Given the description of an element on the screen output the (x, y) to click on. 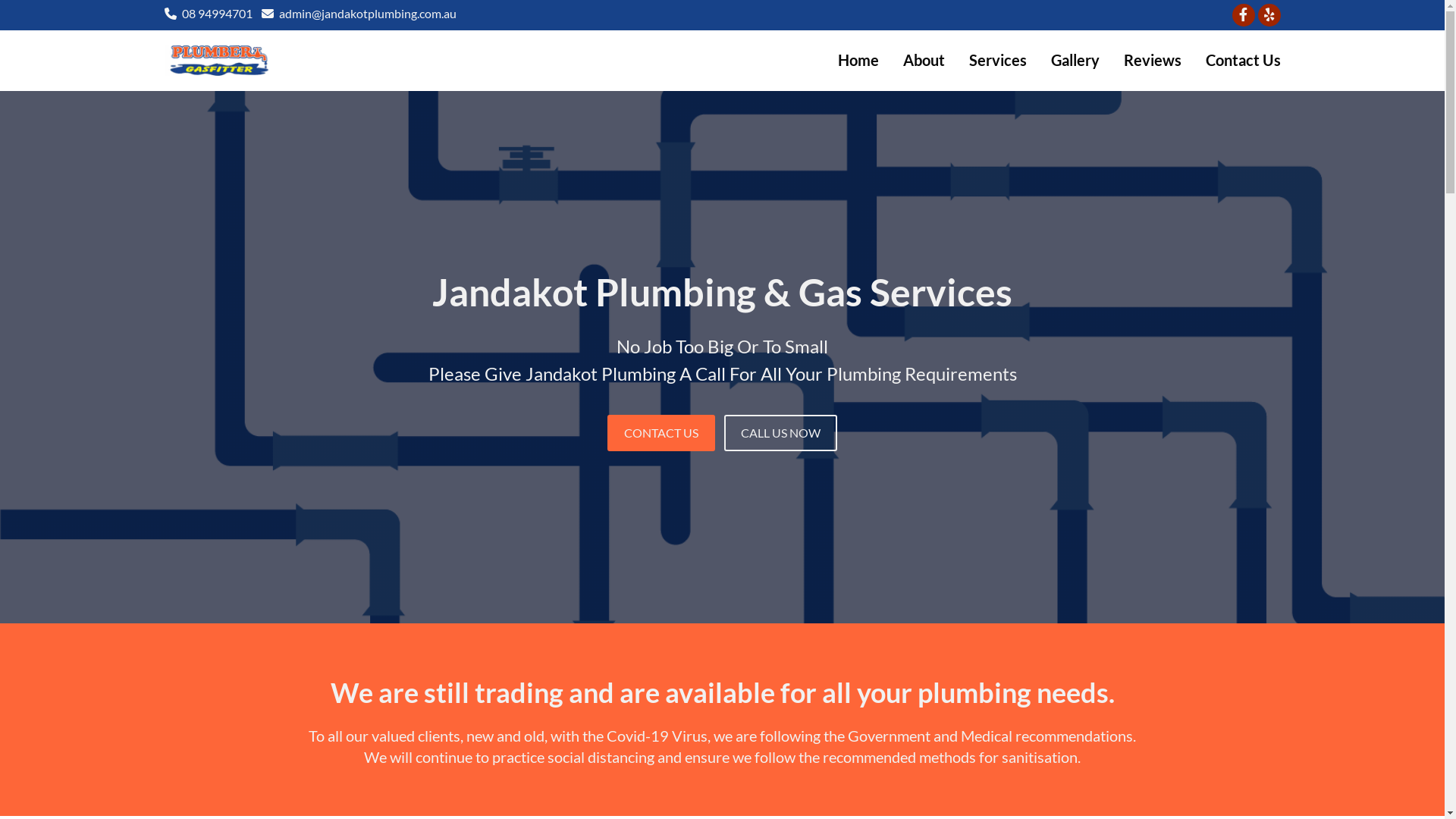
Our Facebook page Element type: hover (1242, 14)
Reviews Element type: text (1152, 59)
About Element type: text (923, 59)
CALL US NOW Element type: text (780, 432)
CALL US NOW Element type: text (780, 432)
Gallery Element type: text (1075, 59)
admin@jandakotplumbing.com.au Element type: text (367, 13)
CONTACT US Element type: text (661, 432)
08 94994701 Element type: text (217, 13)
Services Element type: text (997, 59)
Contact Us Element type: text (1242, 59)
Our Yelp page Element type: hover (1268, 14)
Home Element type: text (857, 59)
CONTACT US Element type: text (660, 432)
